Given the description of an element on the screen output the (x, y) to click on. 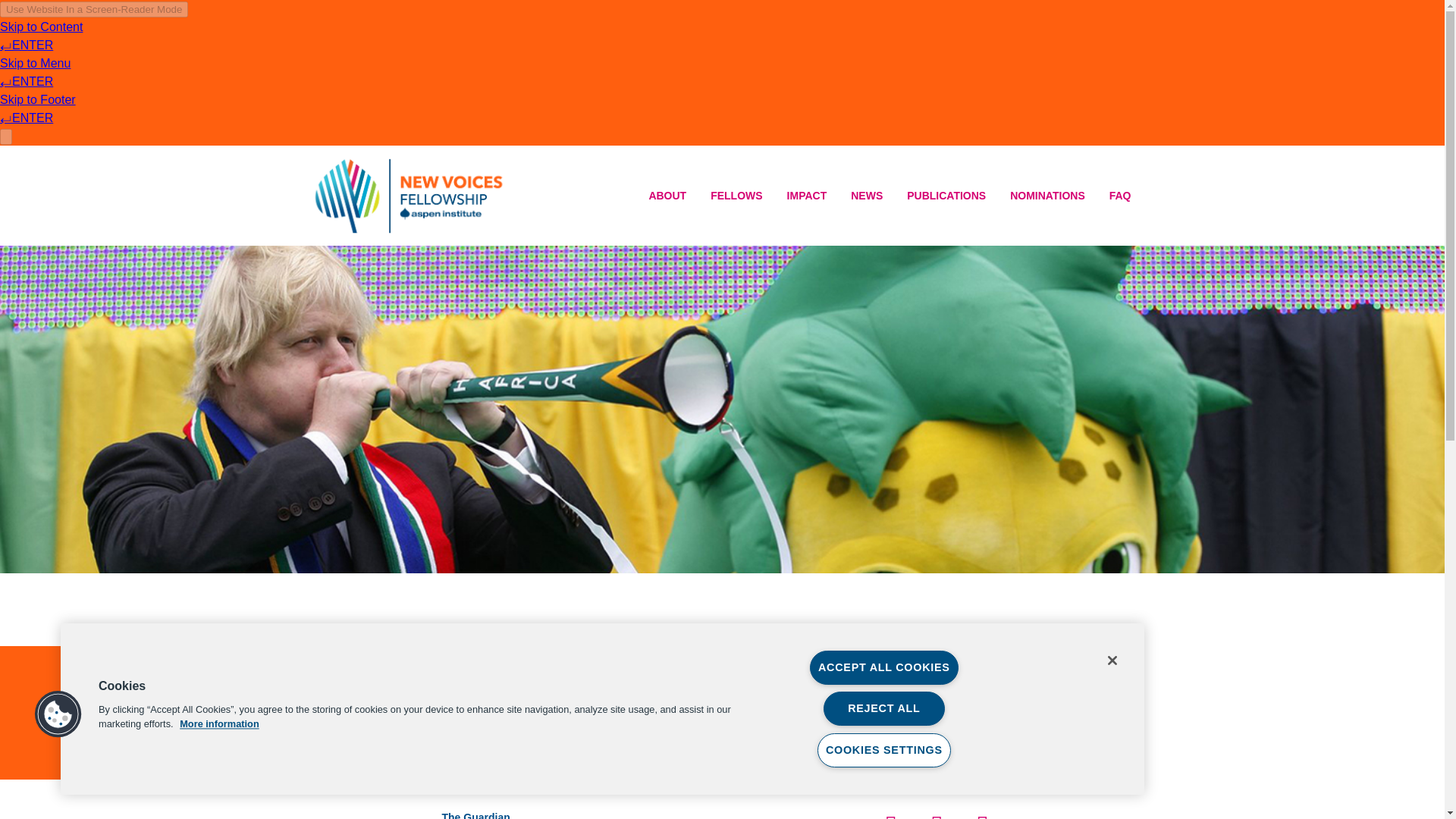
ABOUT (667, 195)
PUBLICATIONS (946, 195)
FELLOWS (736, 195)
NOMINATIONS (1047, 195)
NEWS (866, 195)
OP-ED (460, 630)
FAQ (1119, 195)
Cookies Button (57, 714)
IMPACT (807, 195)
